Given the description of an element on the screen output the (x, y) to click on. 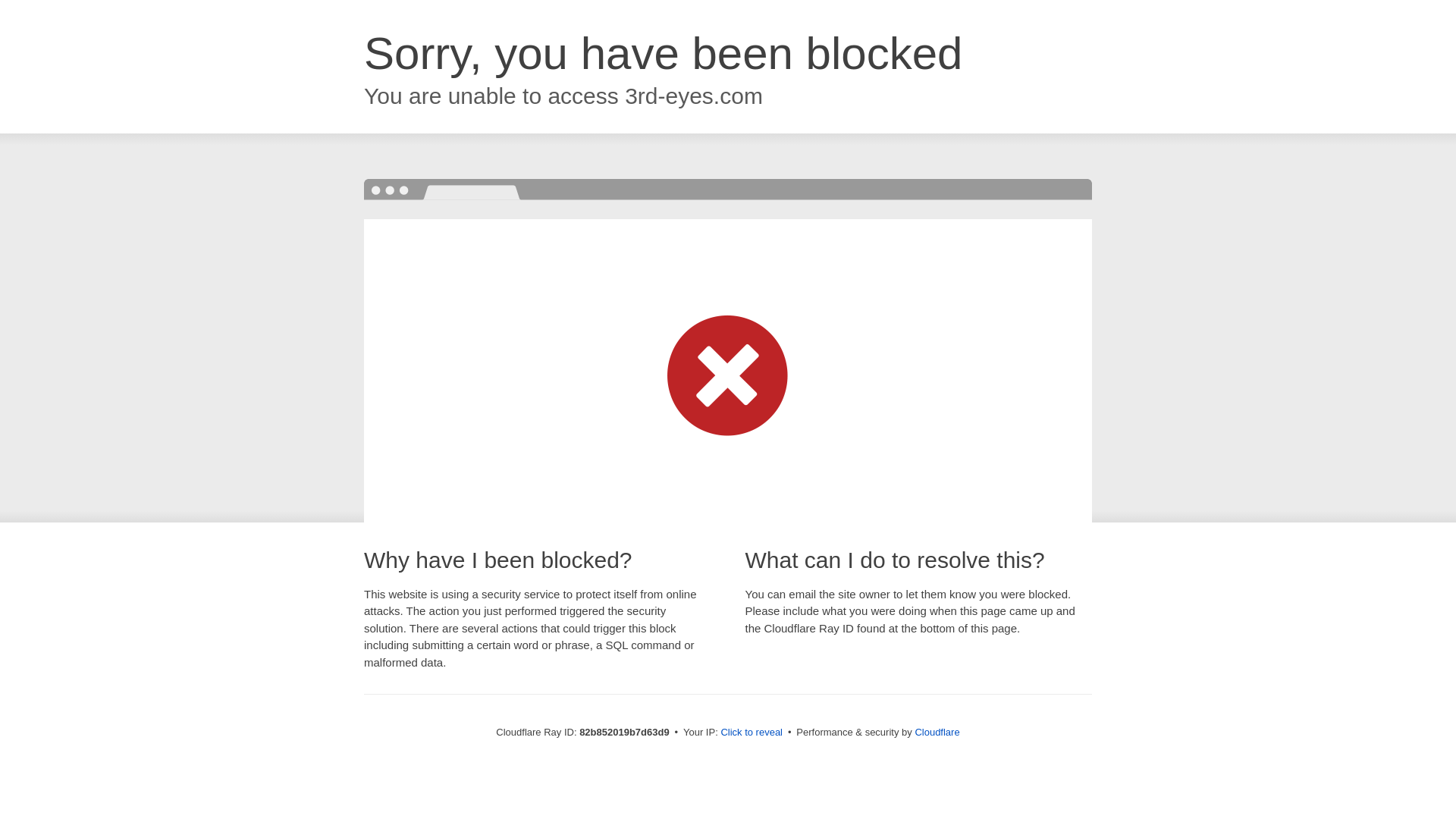
Cloudflare Element type: text (936, 731)
Click to reveal Element type: text (751, 732)
